Given the description of an element on the screen output the (x, y) to click on. 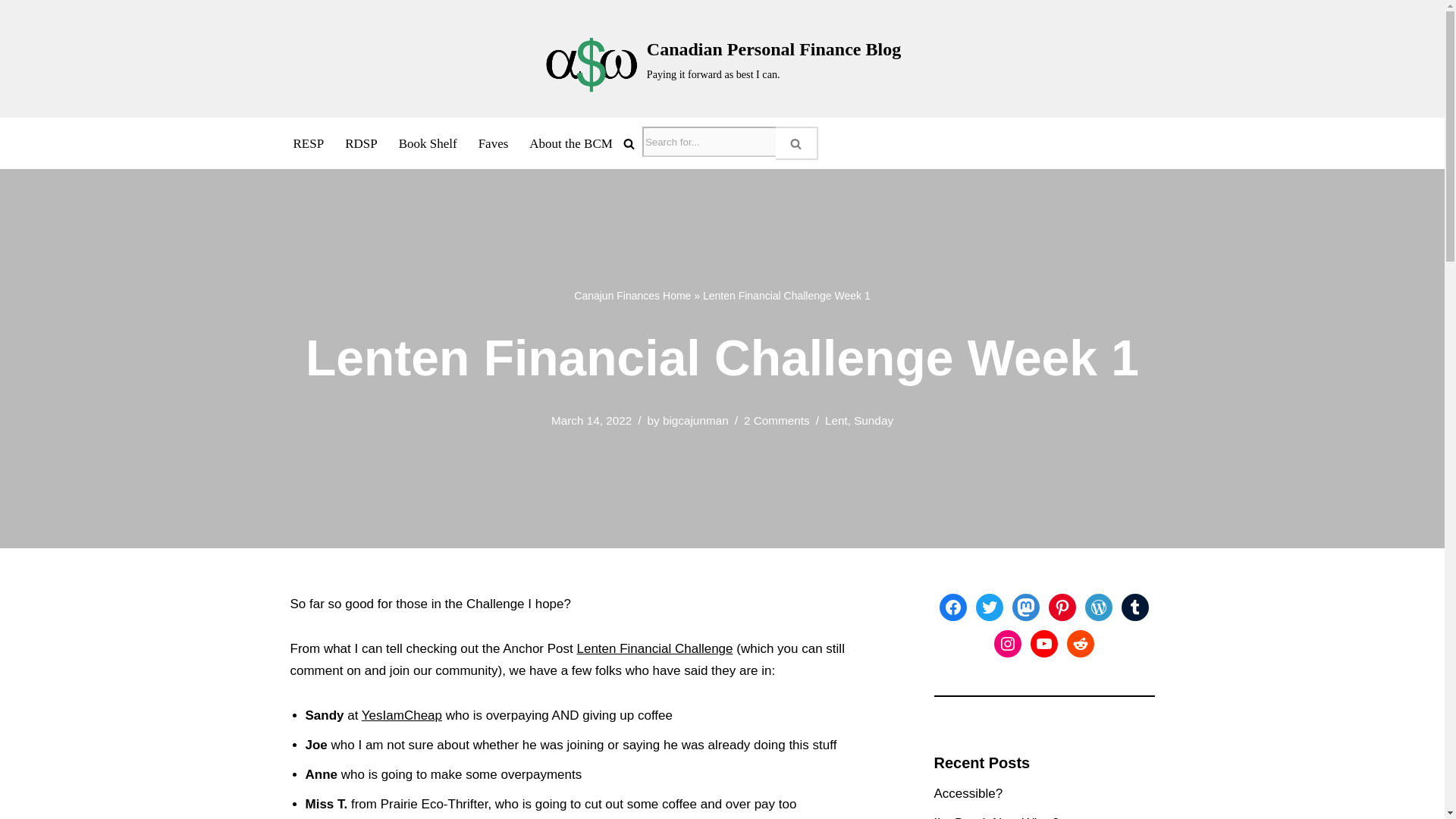
RDSP (361, 142)
Sunday (873, 420)
YesIamCheap (401, 715)
RDSP (361, 142)
Lenten Financial Challenge (654, 648)
Faves (493, 142)
2 Comments (776, 420)
RESP (307, 142)
bigcajunman (695, 420)
Faves (493, 142)
Lent (836, 420)
Posts by bigcajunman (695, 420)
About the BCM (570, 142)
Skip to content (11, 31)
